Given the description of an element on the screen output the (x, y) to click on. 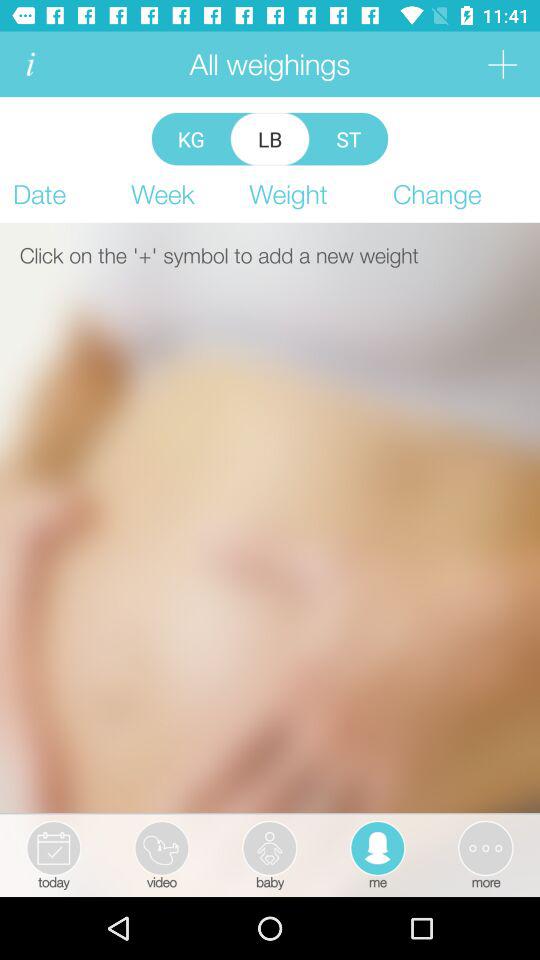
swipe until the kg item (190, 138)
